Given the description of an element on the screen output the (x, y) to click on. 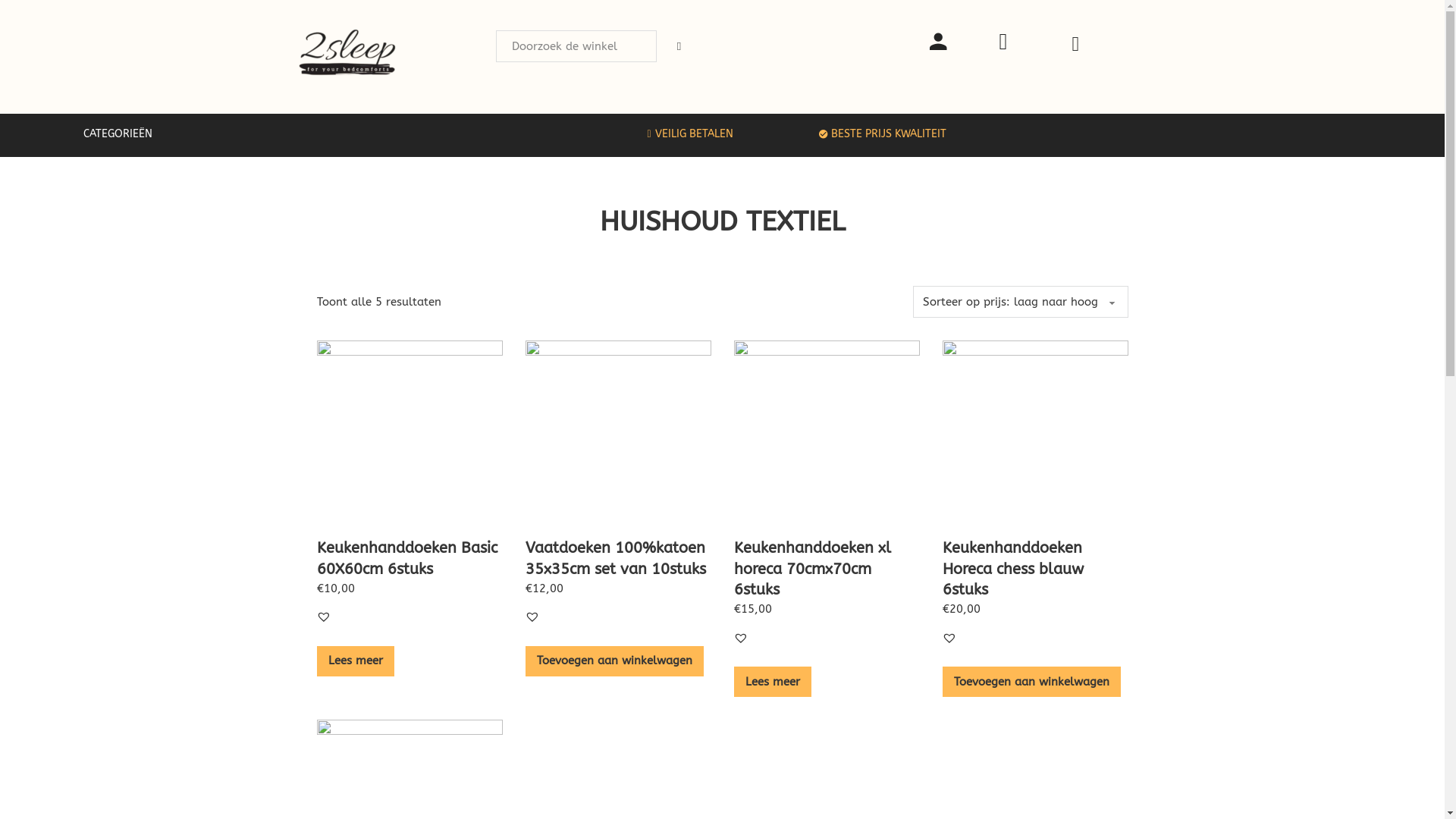
Toevoegen aan winkelwagen Element type: text (613, 661)
Lees meer Element type: text (355, 661)
Lees meer Element type: text (772, 681)
Toevoegen aan winkelwagen Element type: text (1030, 681)
Zoeken Element type: text (494, 29)
